Given the description of an element on the screen output the (x, y) to click on. 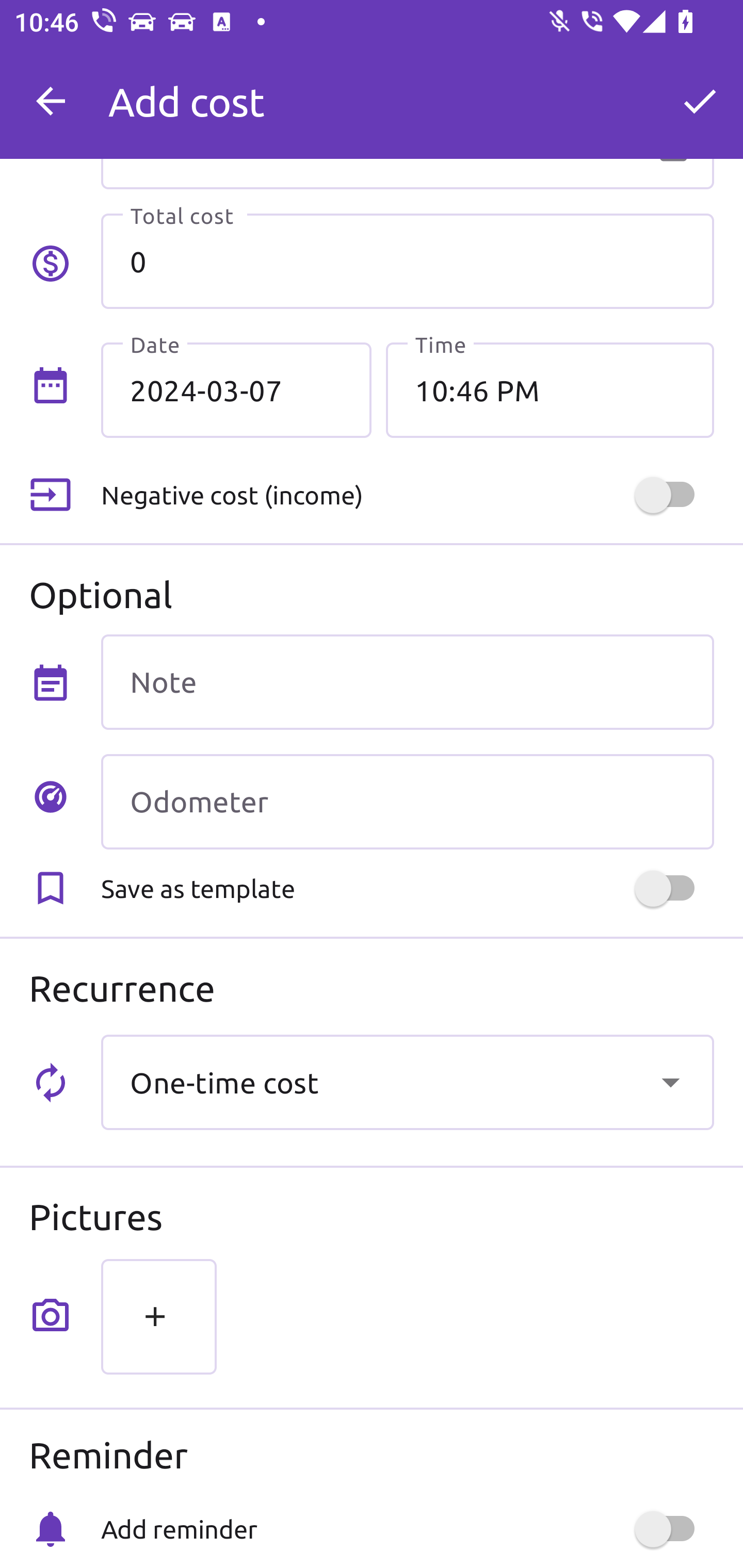
M My Car 0 km (407, 92)
Navigate up (50, 101)
OK (699, 101)
0 (407, 260)
2024-03-07 (236, 389)
10:46 PM (549, 389)
Negative cost (income) (407, 494)
Note (407, 682)
Odometer (407, 801)
Save as template (407, 887)
One-time cost (407, 1082)
Show dropdown menu (670, 1081)
Add reminder (407, 1529)
